Given the description of an element on the screen output the (x, y) to click on. 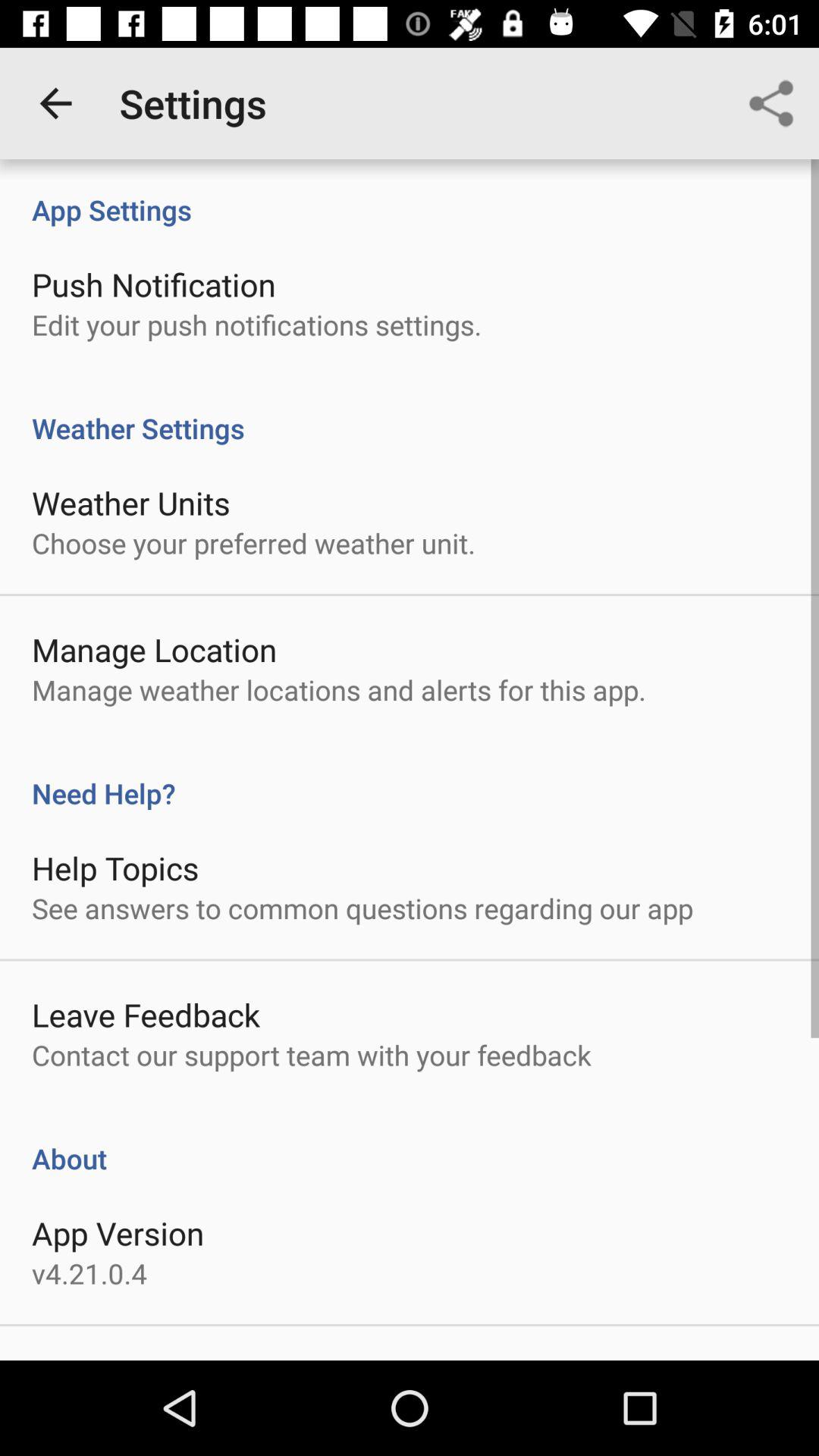
turn on item below help topics icon (362, 908)
